Given the description of an element on the screen output the (x, y) to click on. 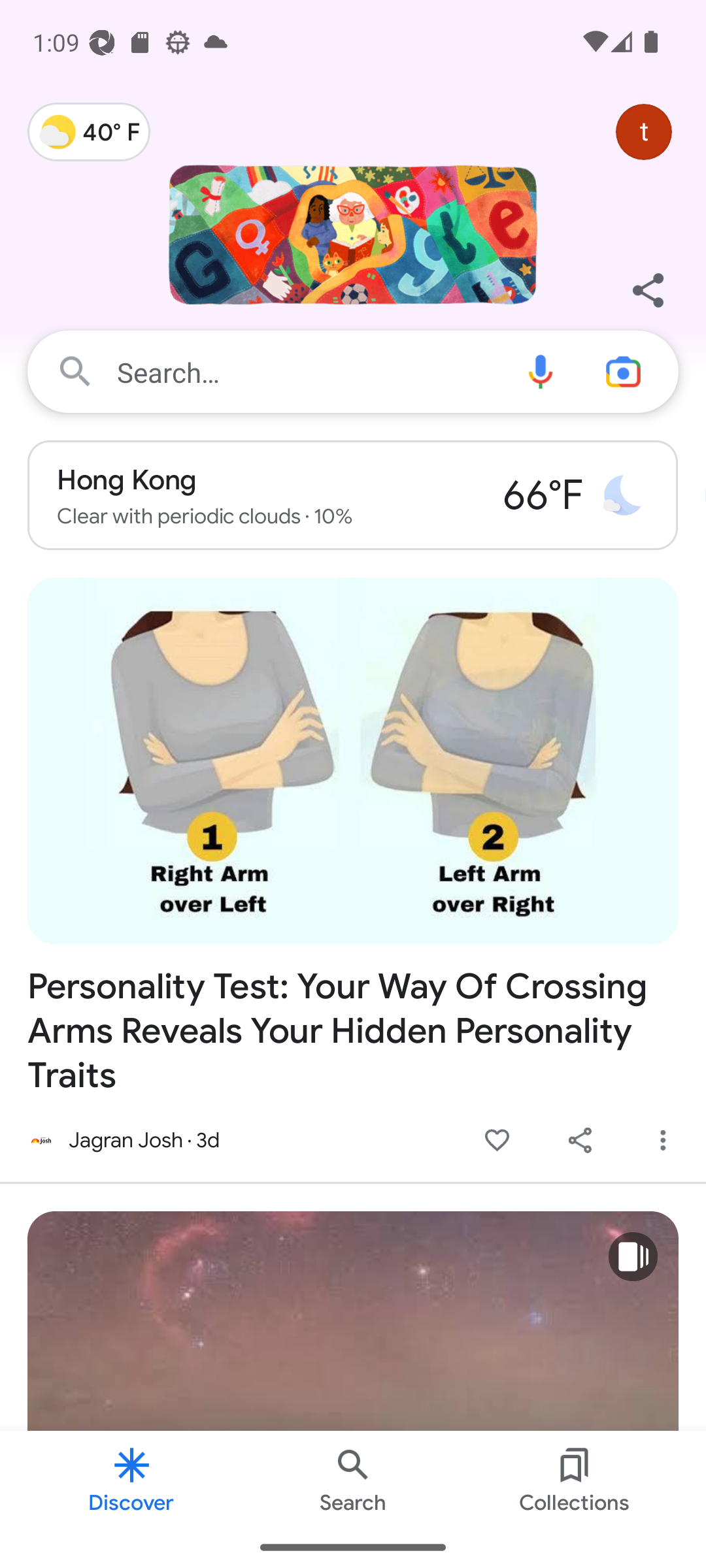
Partly cloudy 40° F (88, 131)
International Women's Day 2024 (353, 244)
Share doodle (647, 289)
Search… Search… Voice search Camera search (352, 371)
Voice search (540, 371)
Camera search (629, 371)
Like (496, 1140)
More options (662, 1140)
More options (662, 1140)
Search (352, 1478)
Collections Button Collections (573, 1478)
